Given the description of an element on the screen output the (x, y) to click on. 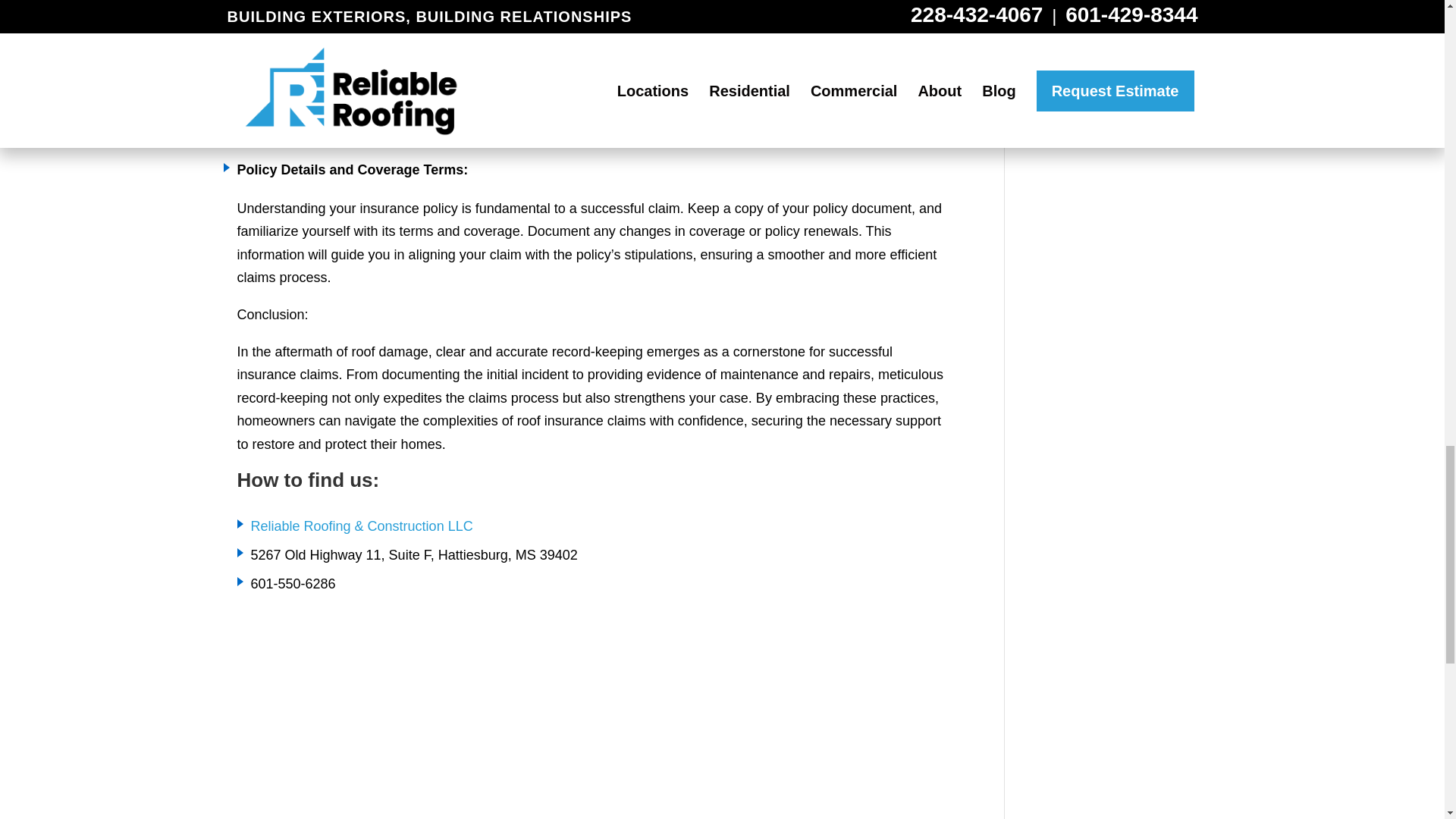
emails (868, 35)
